Given the description of an element on the screen output the (x, y) to click on. 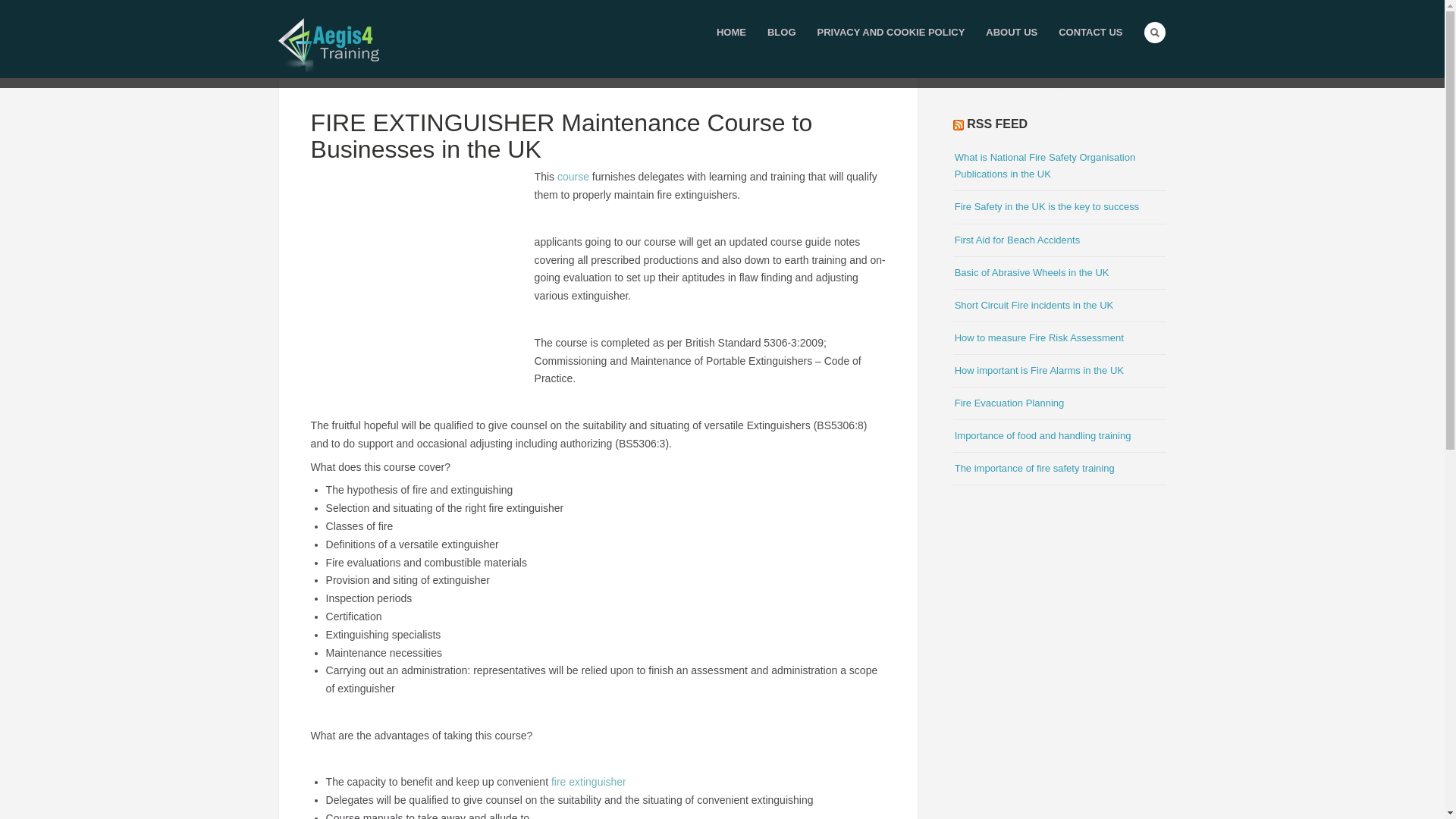
CONTACT US (1090, 32)
The importance of fire safety training (1035, 468)
How important is Fire Alarms in the UK (1039, 369)
Fire Evacuation Planning (1009, 402)
Importance of food and handling training (1043, 435)
fire extinguisher (588, 781)
PRIVACY AND COOKIE POLICY (890, 32)
How to measure Fire Risk Assessment (1039, 337)
ABOUT US (1011, 32)
RSS FEED (996, 123)
First Aid for Beach Accidents (1017, 239)
BLOG (781, 32)
Fire Safety in the UK is the key to success (1047, 206)
Basic of Abrasive Wheels in the UK (1032, 272)
